Given the description of an element on the screen output the (x, y) to click on. 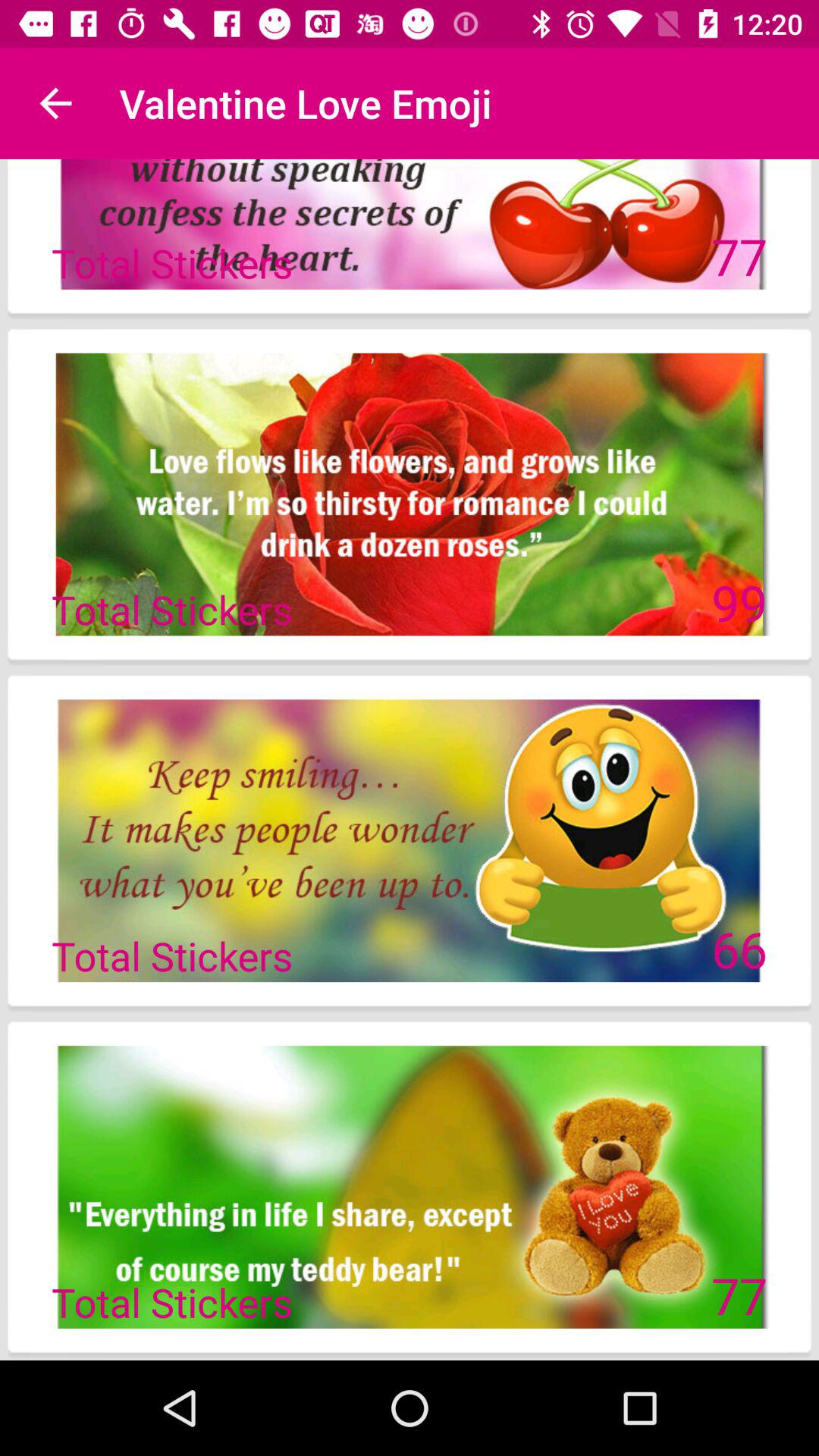
swipe to 99 (739, 602)
